Given the description of an element on the screen output the (x, y) to click on. 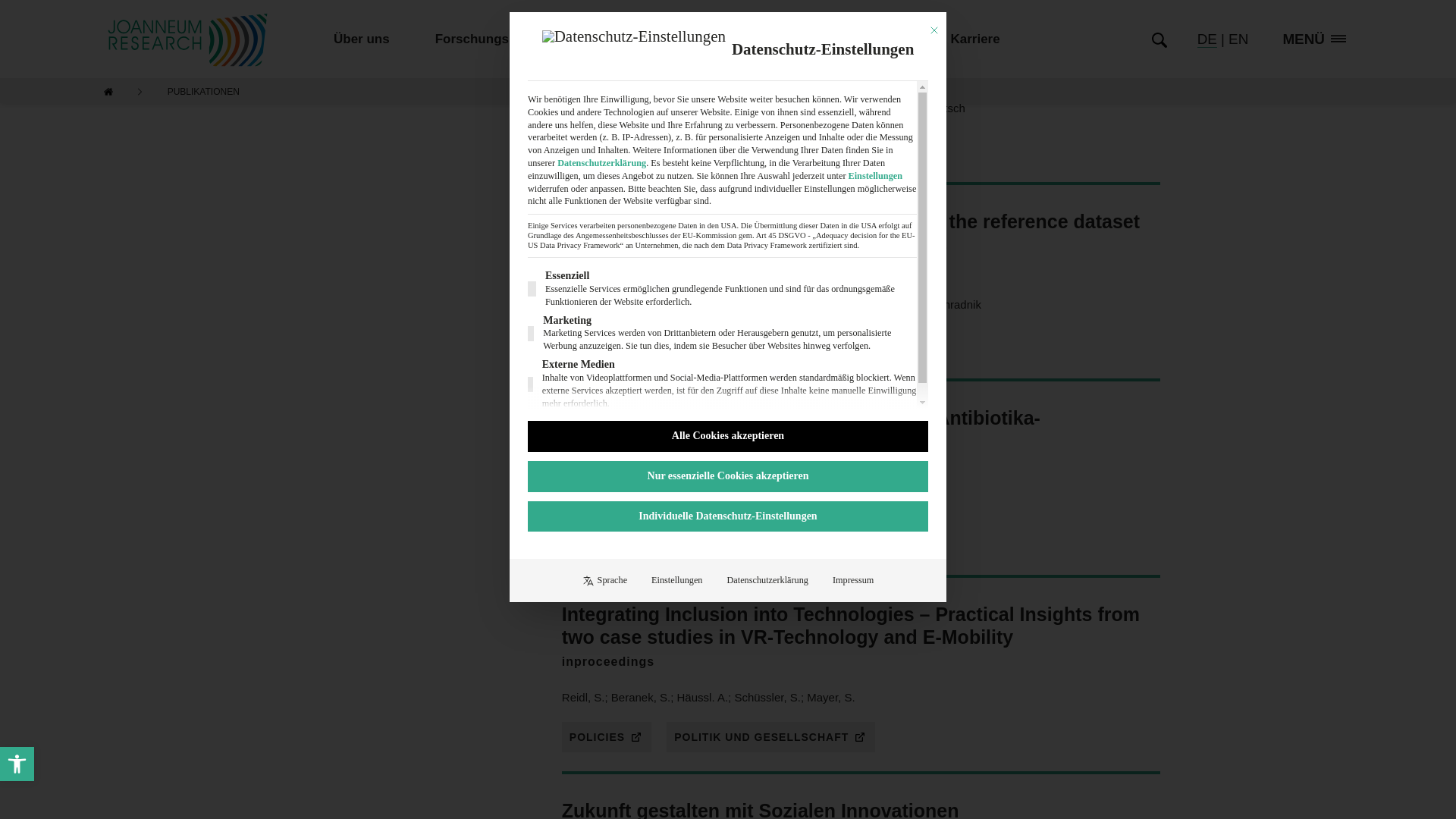
Robotics (300, 2)
